Given the description of an element on the screen output the (x, y) to click on. 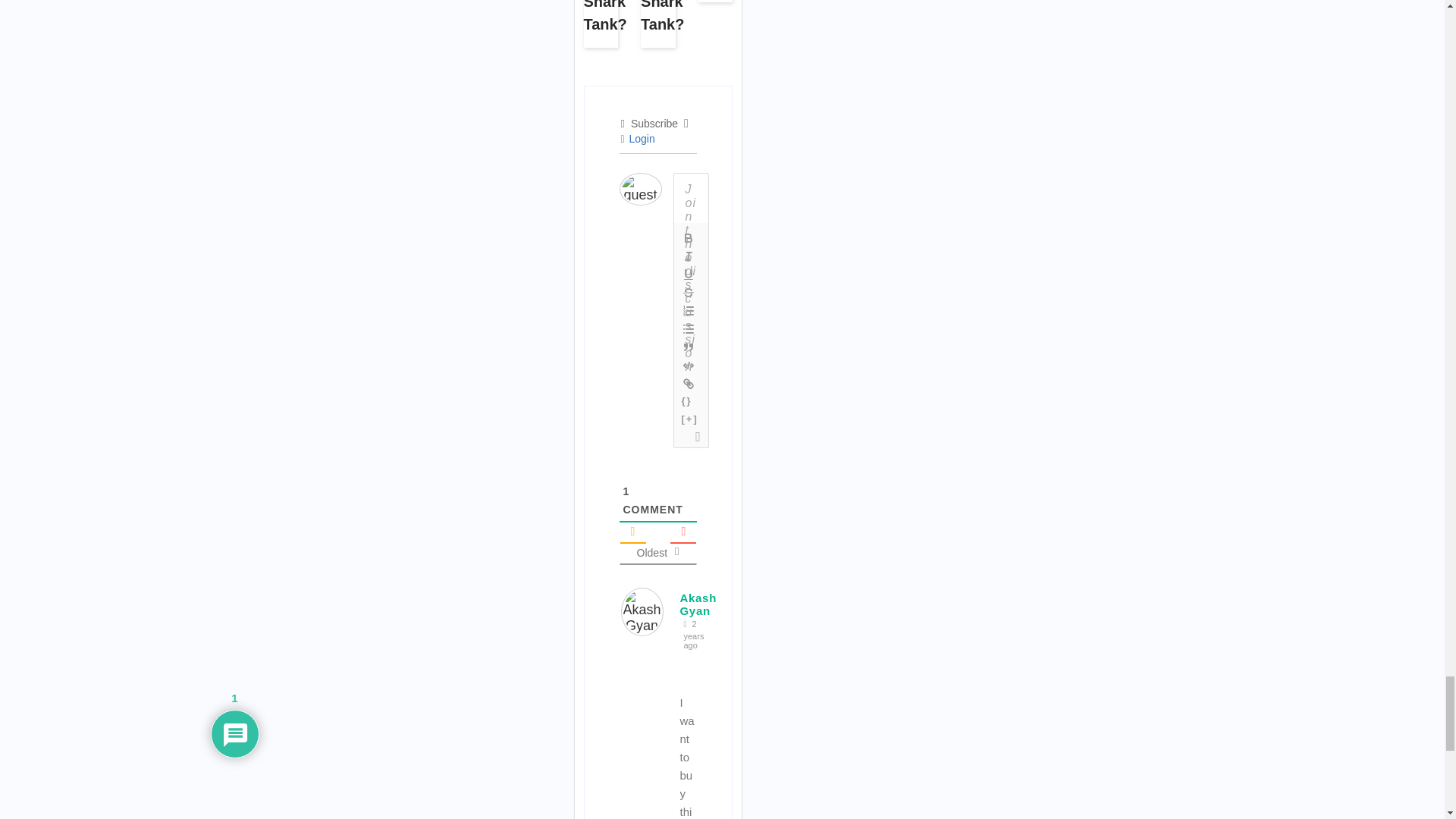
Code Block (688, 365)
Source Code (686, 402)
Ordered List (688, 311)
Bold (688, 238)
Underline (688, 274)
Blockquote (688, 347)
Unordered List (688, 329)
Link (688, 383)
Italic (688, 256)
Spoiler (689, 420)
Strike (688, 292)
